Given the description of an element on the screen output the (x, y) to click on. 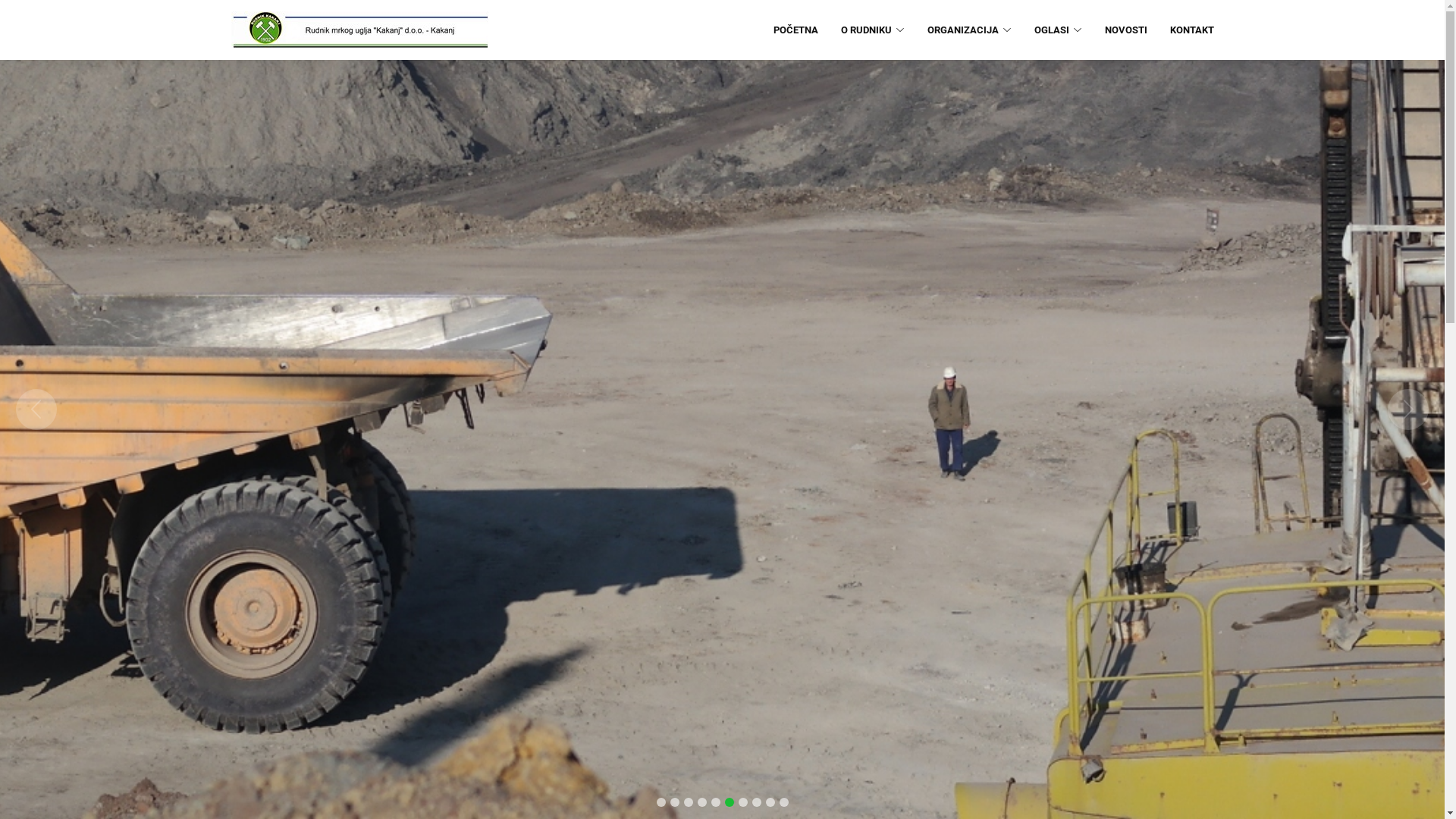
KONTAKT Element type: text (1179, 30)
ORGANIZACIJA Element type: text (956, 30)
NOVOSTI Element type: text (1113, 30)
O RUDNIKU Element type: text (860, 30)
OGLASI Element type: text (1046, 30)
